Given the description of an element on the screen output the (x, y) to click on. 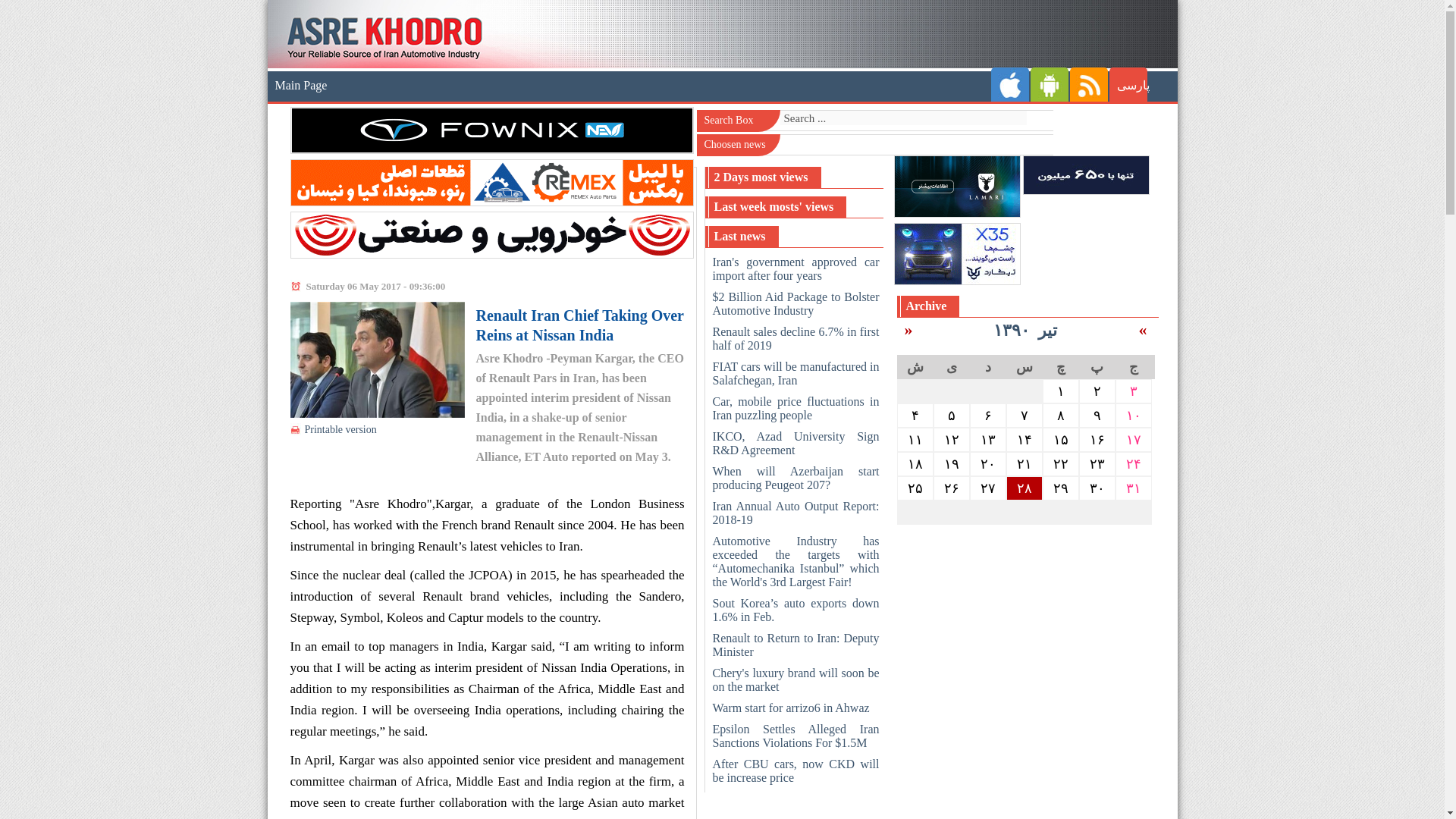
Search ... (902, 117)
 Printable version (340, 429)
Main Page (300, 87)
